Given the description of an element on the screen output the (x, y) to click on. 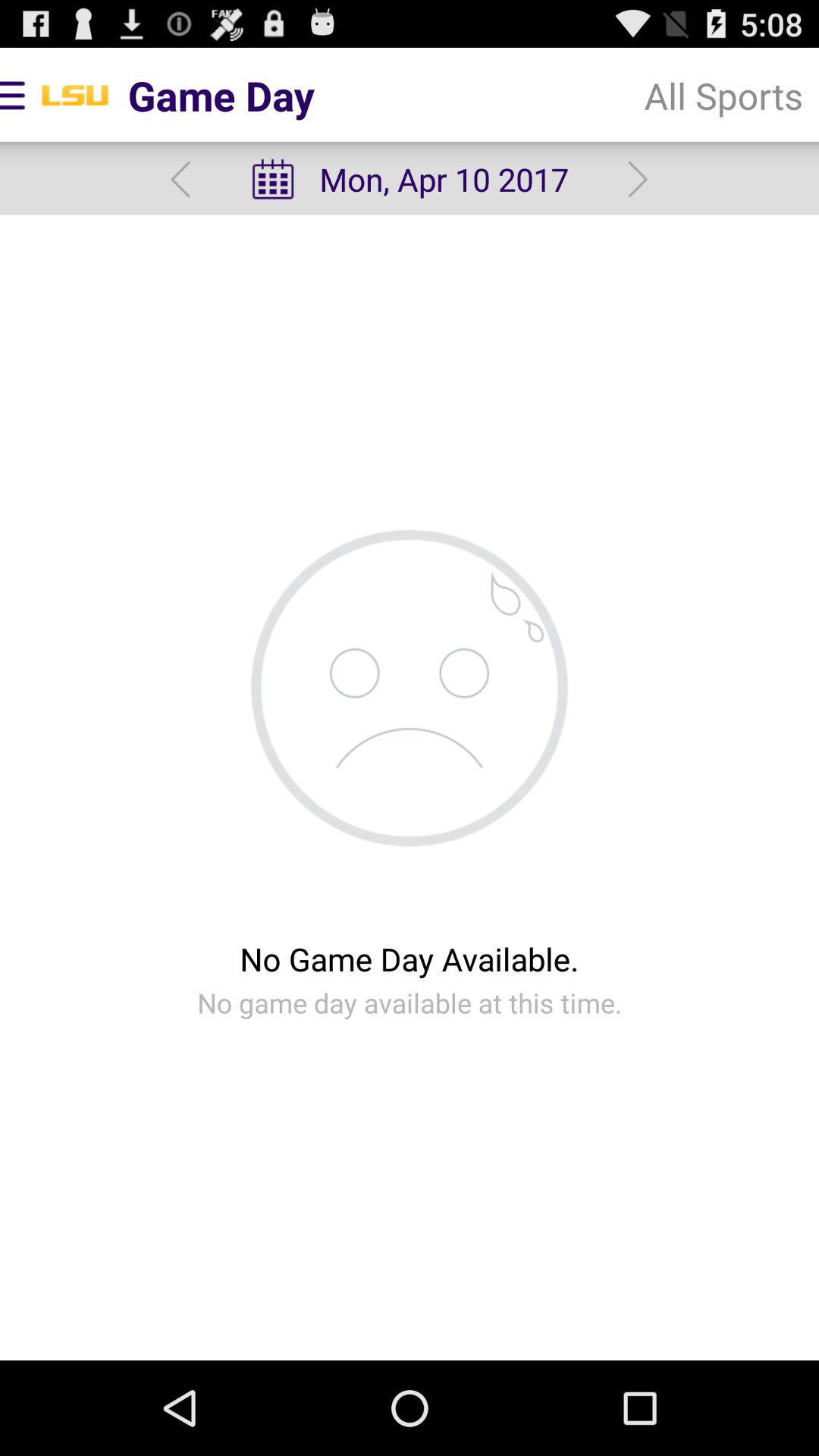
press the item below the game day item (408, 179)
